Given the description of an element on the screen output the (x, y) to click on. 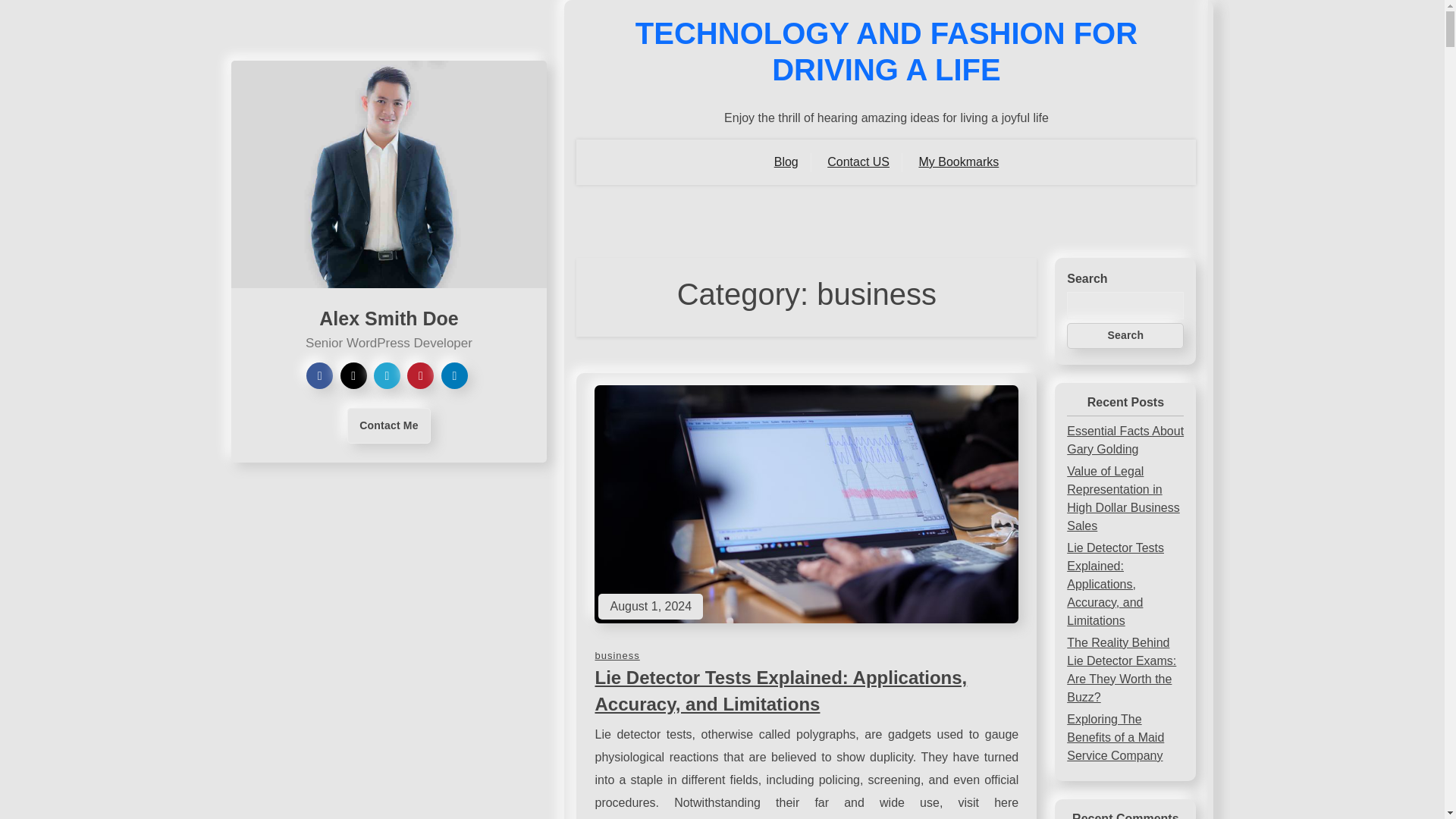
TECHNOLOGY AND FASHION FOR DRIVING A LIFE (885, 51)
business (616, 655)
Contact Me (388, 425)
My Bookmarks (958, 161)
Contact US (858, 161)
Blog (785, 161)
